Given the description of an element on the screen output the (x, y) to click on. 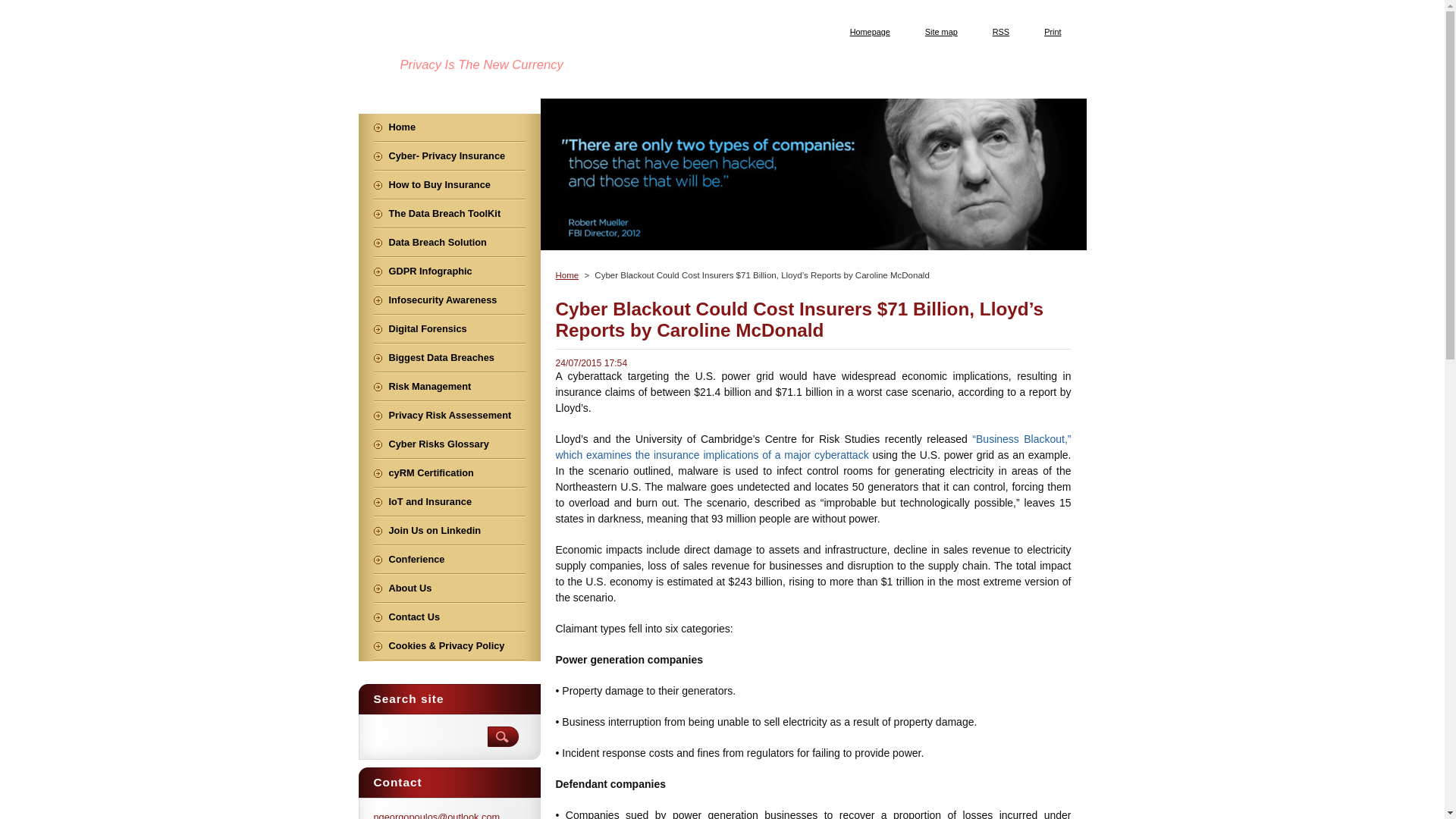
Site map (936, 31)
Cyber Risks Glossary (448, 443)
How to Buy Insurance (448, 185)
Go to Homepage. (863, 31)
Contact Us (448, 616)
IoT and Insurance (448, 501)
Go to site map. (936, 31)
Data Breach Solution (448, 242)
GDPR Infographic (448, 271)
Print (1046, 31)
Home (448, 126)
PrivacyRisksAdvisors.com (548, 41)
Digital Forensics (448, 329)
RSS Feeds (995, 31)
About Us (448, 587)
